Given the description of an element on the screen output the (x, y) to click on. 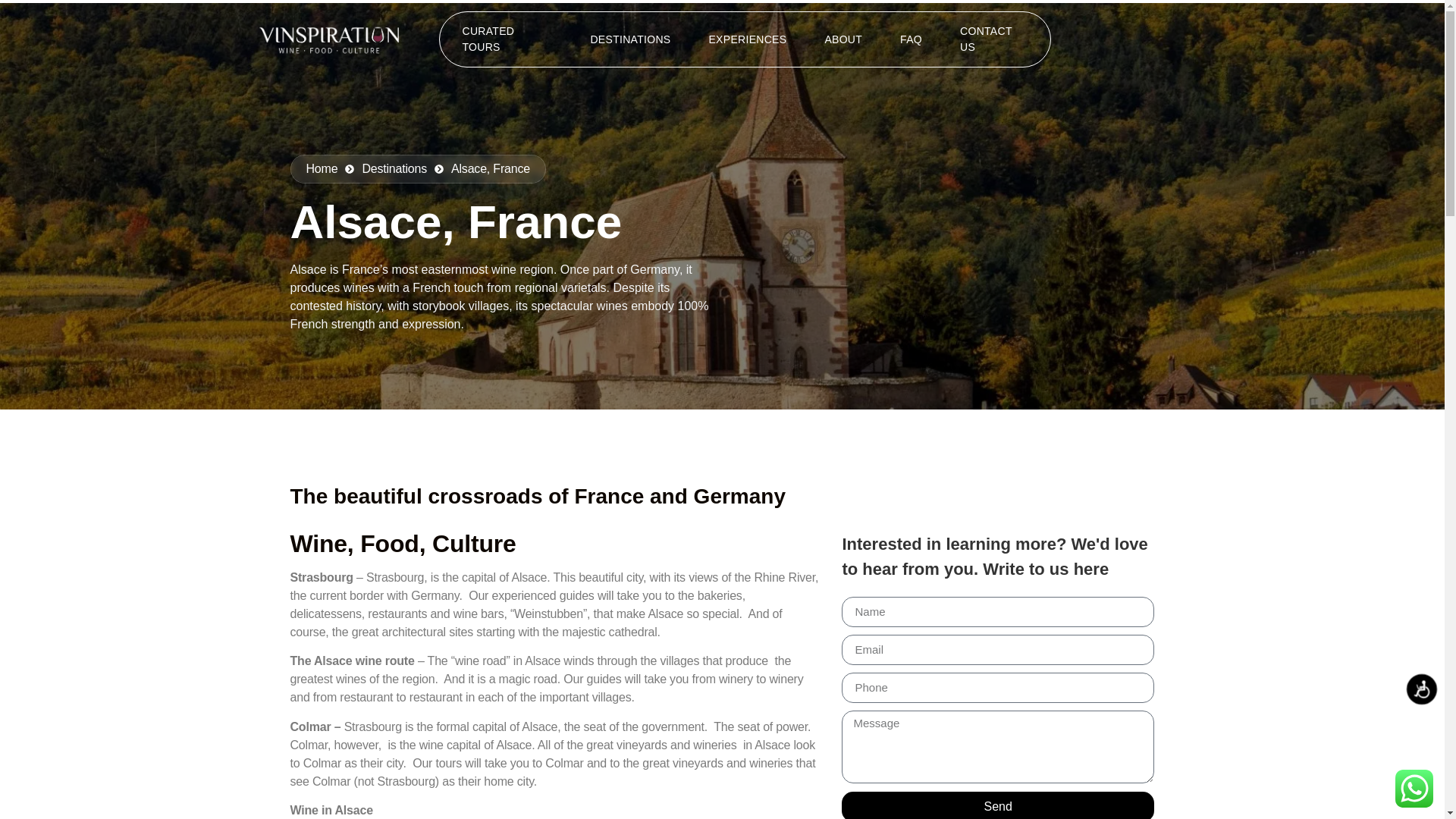
CURATED TOURS (506, 39)
CONTACT US (993, 39)
EXPERIENCES (747, 39)
ABOUT (843, 39)
FAQ (911, 39)
Send (997, 805)
Destinations (385, 168)
DESTINATIONS (630, 39)
